Given the description of an element on the screen output the (x, y) to click on. 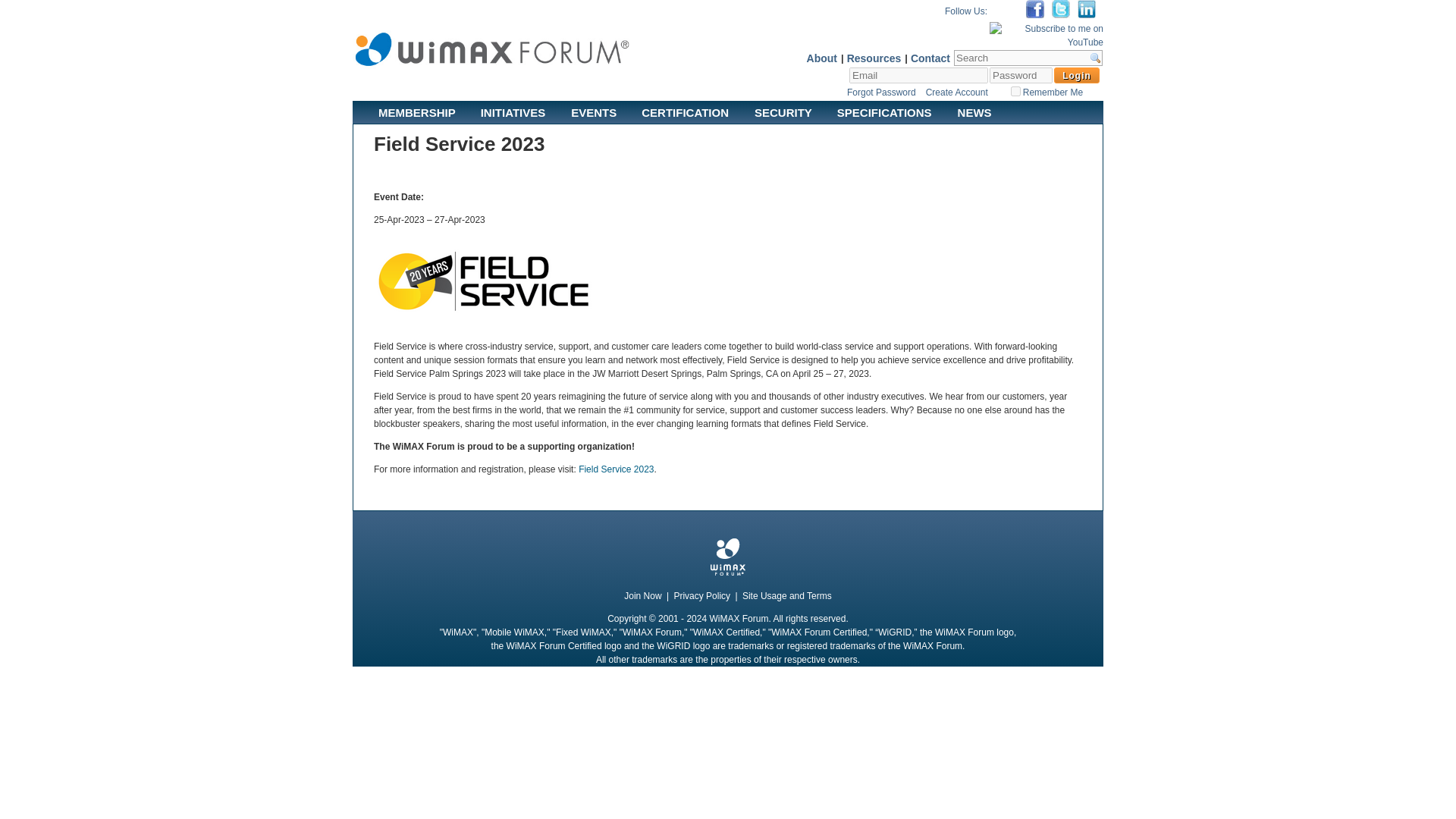
SPECIFICATIONS (884, 108)
Login (1076, 75)
EVENTS (592, 108)
CERTIFICATION (685, 108)
true (1015, 91)
Forgot Password (881, 91)
Resources (874, 57)
MEMBERSHIP (416, 108)
NEWS (974, 108)
Contact (930, 57)
